Given the description of an element on the screen output the (x, y) to click on. 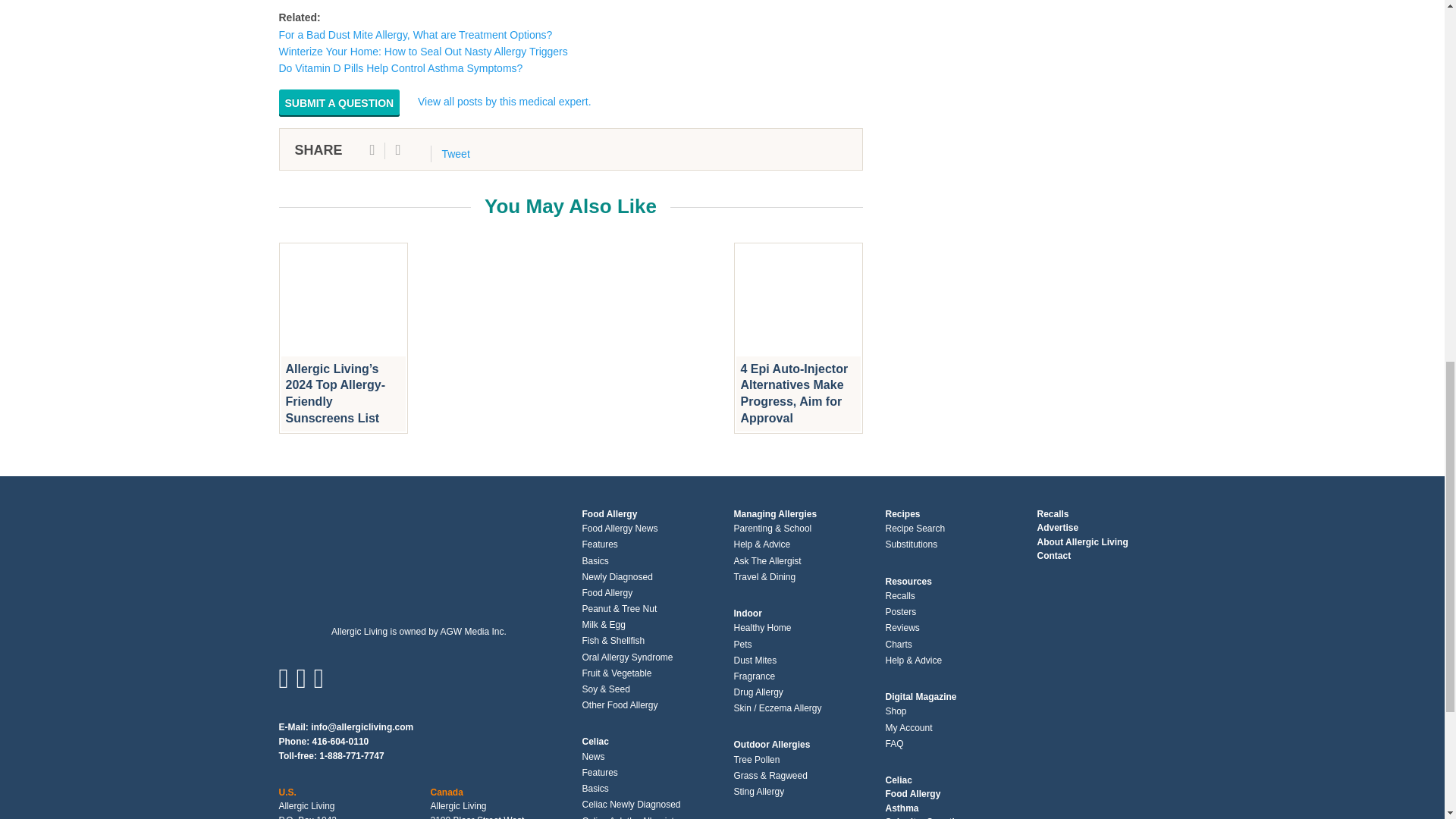
Winterize Your Home: How to Seal Out Nasty Allergy Triggers (423, 51)
For a Bad Dust Mite Allergy, What are Treatment Options? (416, 34)
Do Vitamin D Pills Help Control Asthma Symptoms? (400, 68)
